Given the description of an element on the screen output the (x, y) to click on. 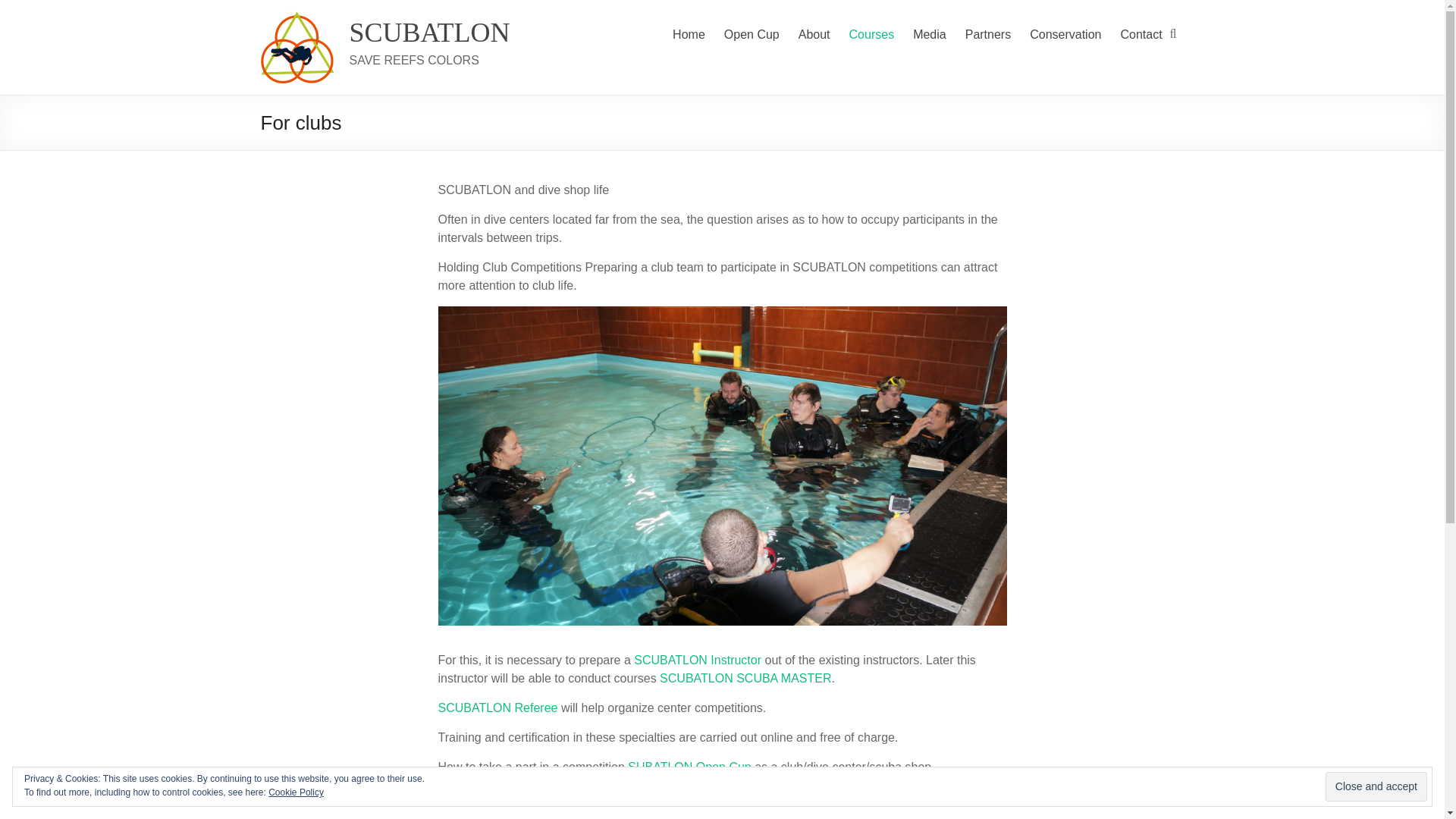
Partners (987, 34)
SCUBATLON (429, 32)
Conservation (1064, 34)
SCUBATLON Instructor (697, 659)
Open Cup (750, 34)
Contact (1140, 34)
Courses (871, 34)
SUBATLON Open Cup (689, 766)
Close and accept (1375, 786)
SCUBATLON SCUBA MASTER (745, 677)
SCUBATLON (429, 32)
SCUBATLON Referee (497, 707)
